Given the description of an element on the screen output the (x, y) to click on. 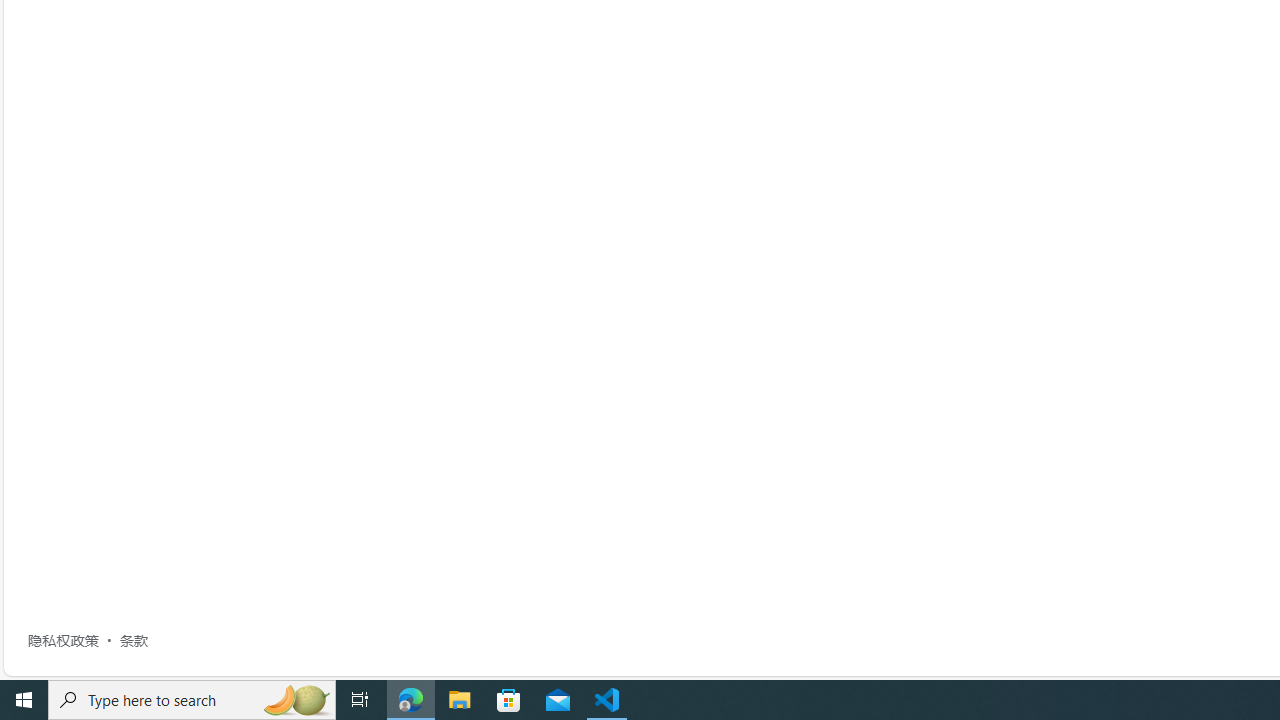
Type here to search (191, 699)
Microsoft Store (509, 699)
Search highlights icon opens search home window (295, 699)
Microsoft Edge - 1 running window (411, 699)
File Explorer (460, 699)
Task View (359, 699)
Visual Studio Code - 1 running window (607, 699)
Start (24, 699)
